Given the description of an element on the screen output the (x, y) to click on. 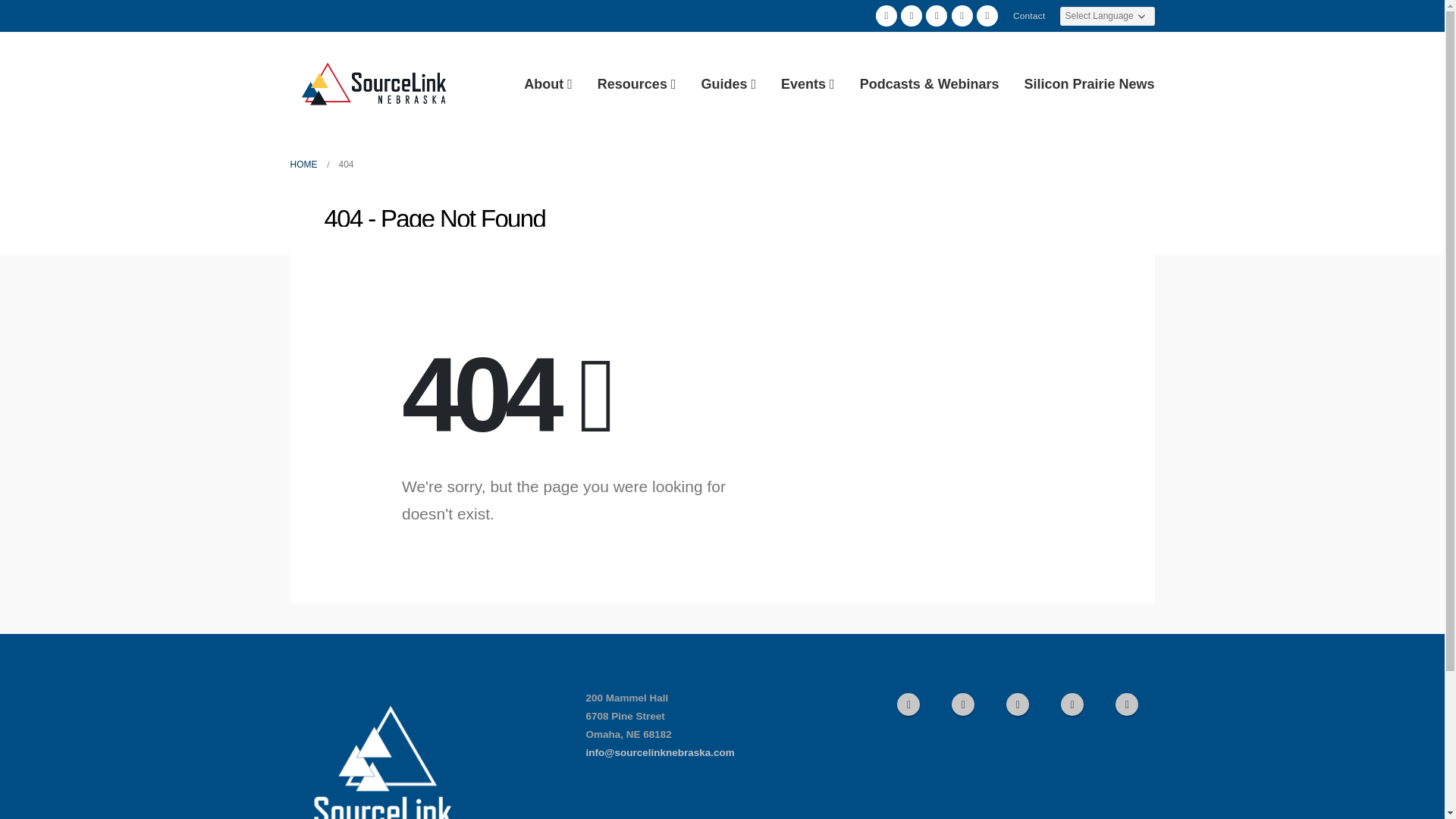
Youtube (1017, 703)
Go to Home Page (303, 164)
Twitter (911, 15)
About (548, 83)
Instagram (1072, 703)
Events (807, 83)
Facebook (908, 703)
Facebook (886, 15)
Youtube (936, 15)
Instagram (962, 15)
